Given the description of an element on the screen output the (x, y) to click on. 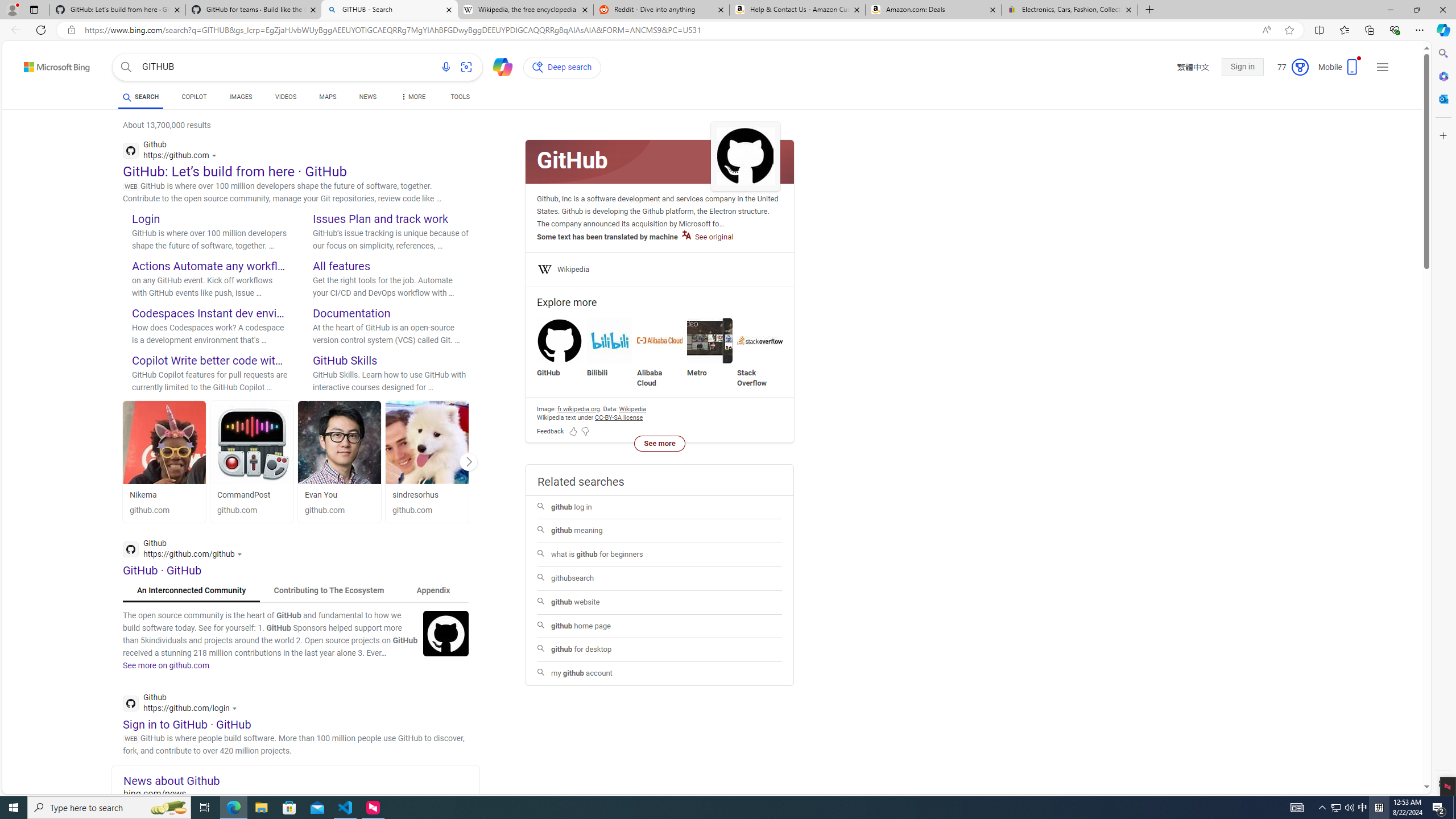
github website (659, 602)
Click to scroll right (468, 461)
Bilibili (608, 340)
Sign in (1242, 67)
GitHub Skills (345, 359)
Wikipedia (573, 269)
News about Github (301, 780)
MAPS (327, 98)
Search using an image (465, 66)
Evan You (320, 494)
Bilibili (608, 347)
